Given the description of an element on the screen output the (x, y) to click on. 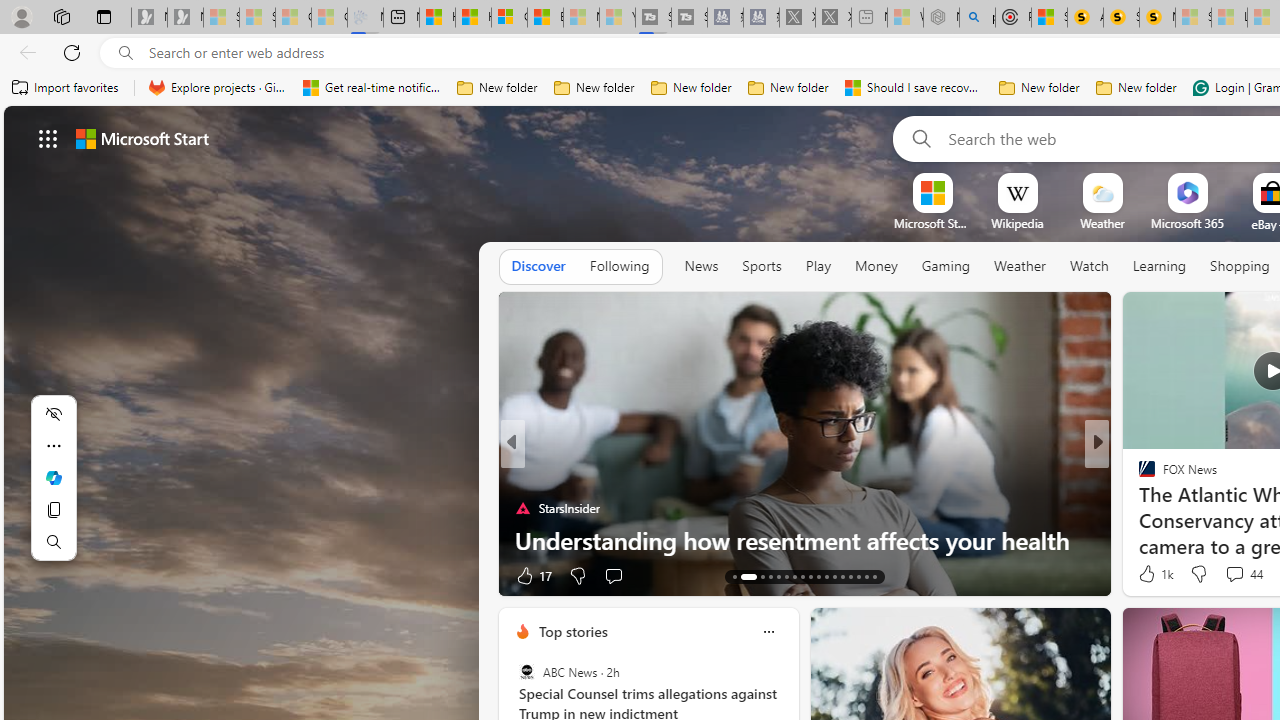
Wildlife - MSN - Sleeping (905, 17)
Nordace - Summer Adventures 2024 - Sleeping (941, 17)
Watch (1089, 267)
Michelle Starr, Senior Journalist at ScienceAlert (1157, 17)
Inc. (1138, 475)
Sports (761, 265)
AutomationID: tab-28 (865, 576)
Tribune News Service (1138, 475)
Should I save recovered Word documents? - Microsoft Support (913, 88)
Ask Copilot (53, 477)
Dislike (1198, 574)
AutomationID: tab-26 (850, 576)
